Given the description of an element on the screen output the (x, y) to click on. 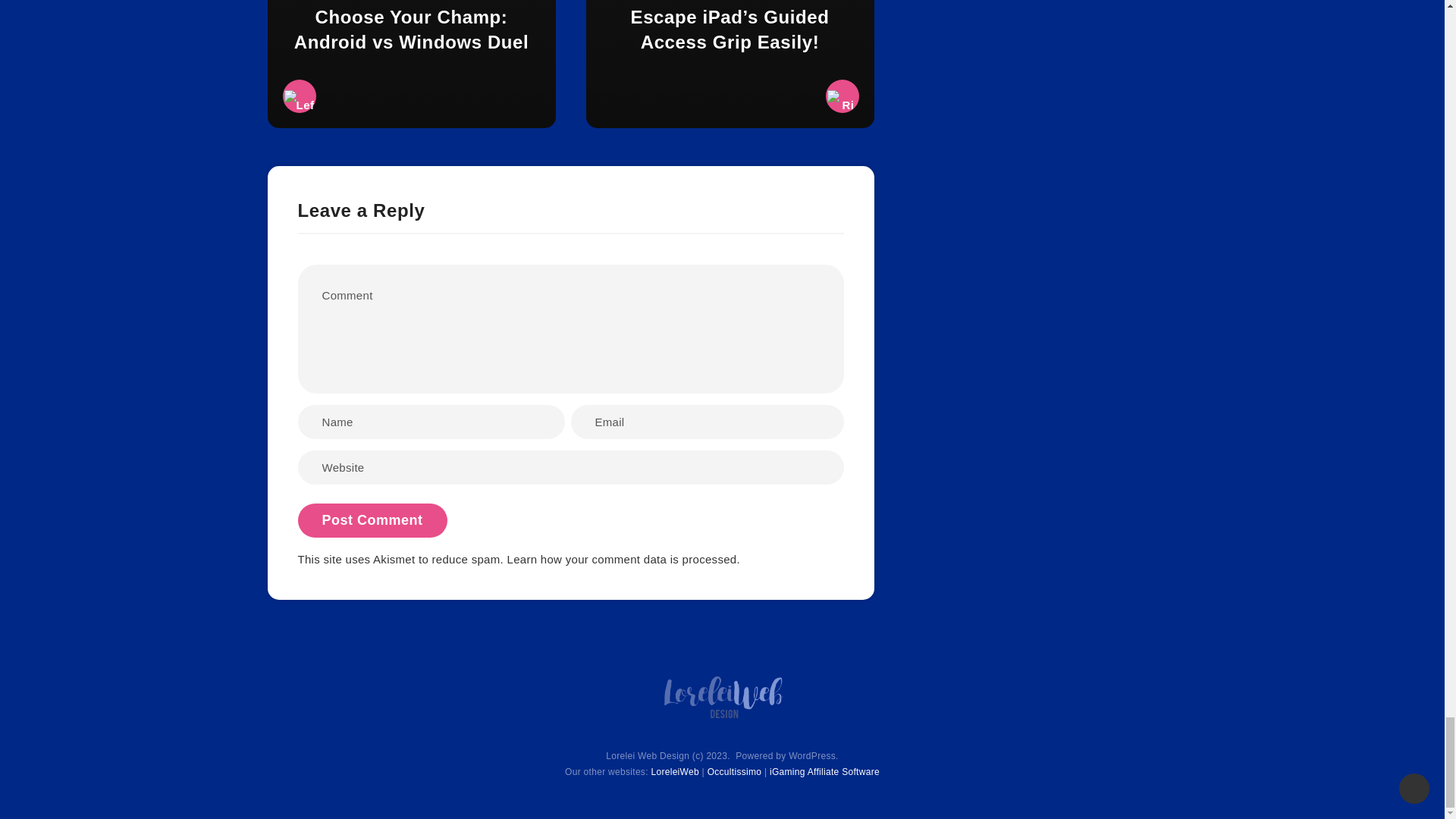
Learn how your comment data is processed (621, 558)
Post Comment (371, 520)
Post Comment (371, 520)
